Given the description of an element on the screen output the (x, y) to click on. 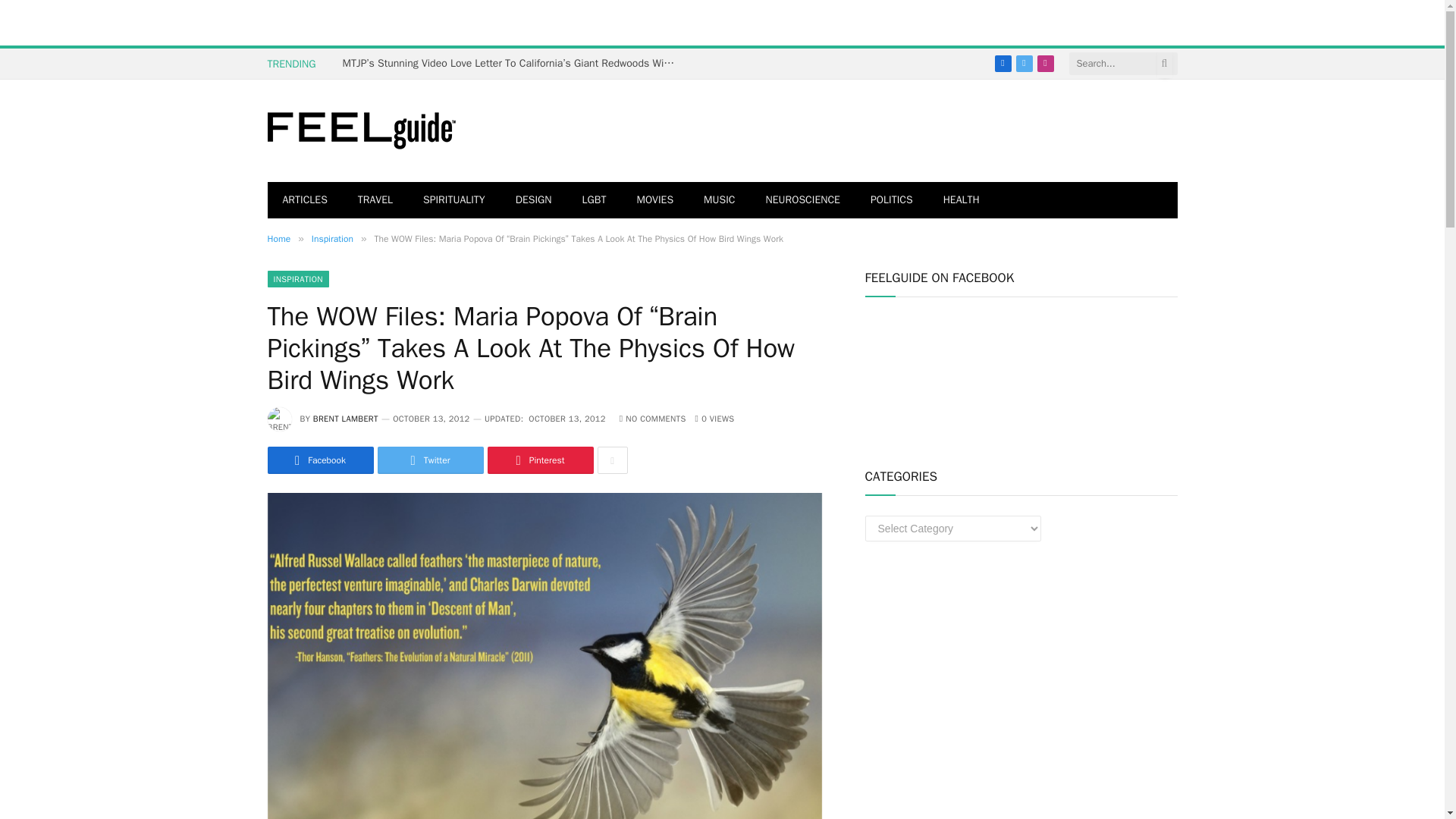
INSPIRATION (297, 279)
DESIGN (533, 199)
NO COMMENTS (652, 418)
Facebook (319, 460)
HEALTH (961, 199)
FEELguide (361, 131)
0 Article Views (715, 418)
SPIRITUALITY (453, 199)
Posts by Brent Lambert (345, 418)
POLITICS (892, 199)
Home (277, 238)
MOVIES (654, 199)
Inspiration (332, 238)
Share on Facebook (319, 460)
Pinterest (539, 460)
